Given the description of an element on the screen output the (x, y) to click on. 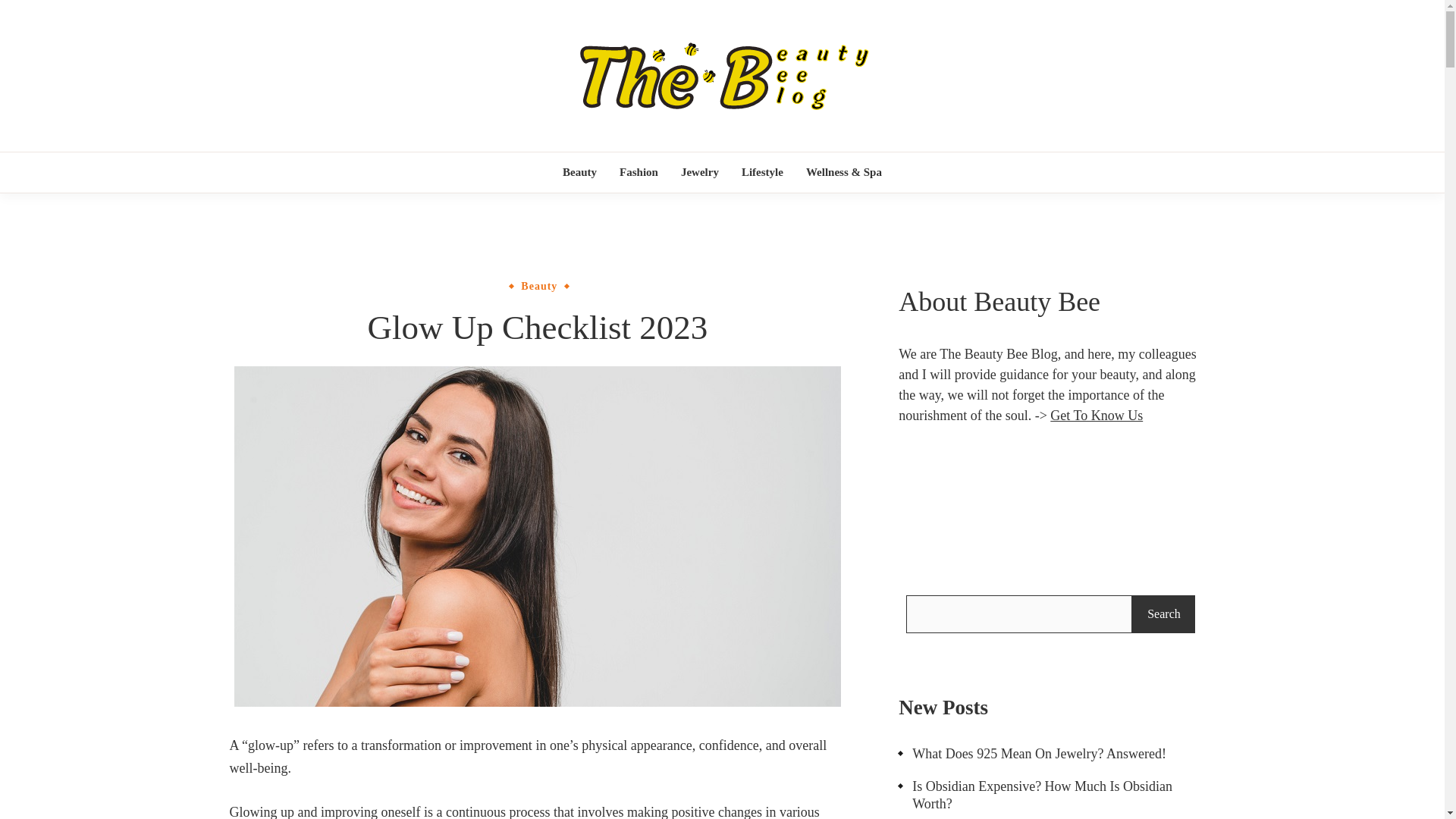
What Does 925 Mean On Jewelry? Answered! (1032, 753)
Is Obsidian Expensive? How Much Is Obsidian Worth? (1050, 796)
Jewelry (699, 172)
Search (1163, 614)
Lifestyle (762, 172)
Fashion (638, 172)
Beauty (538, 285)
THE BEAUTY BEE BLOG (906, 152)
Beauty (579, 172)
Get To Know Us (1095, 415)
